Given the description of an element on the screen output the (x, y) to click on. 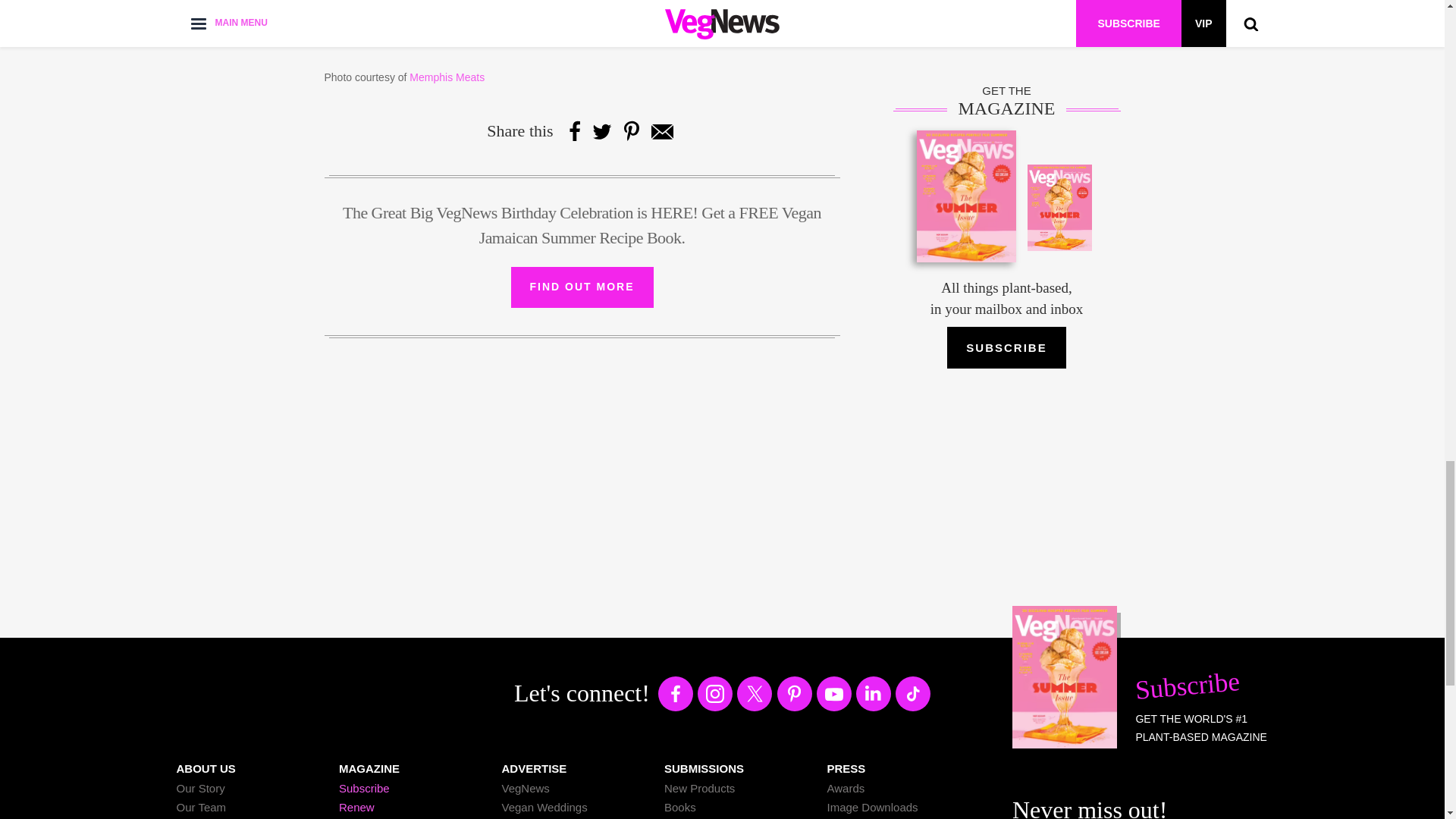
Share article via email (661, 130)
Share article on Twitter (601, 130)
